Given the description of an element on the screen output the (x, y) to click on. 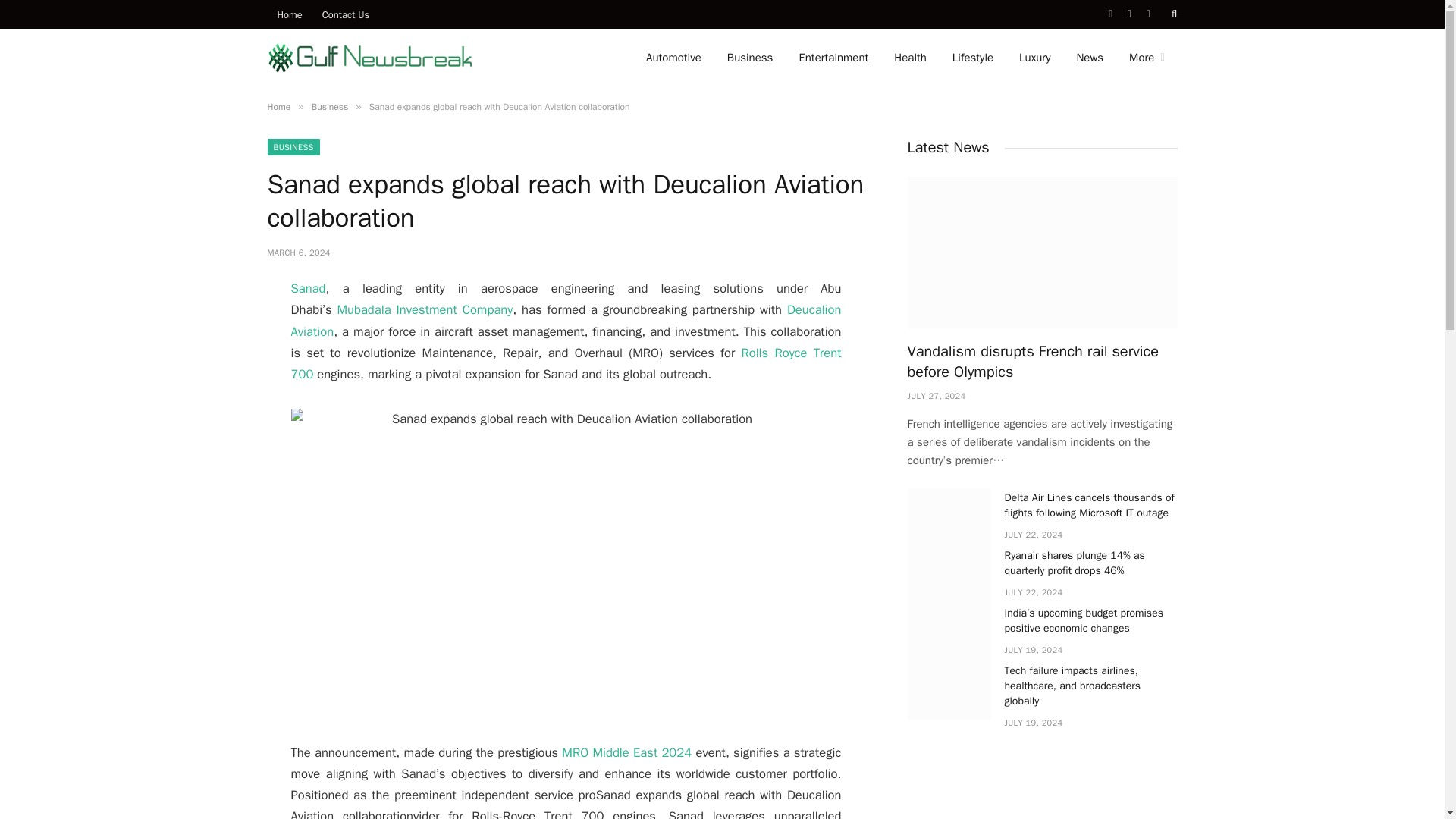
Business (329, 106)
Lifestyle (972, 57)
BUSINESS (292, 146)
Health (909, 57)
Home (277, 106)
Business (750, 57)
Home (288, 14)
Entertainment (833, 57)
More (1146, 57)
Luxury (1034, 57)
News (1089, 57)
Automotive (673, 57)
Gulf Newsbreak (368, 57)
Contact Us (346, 14)
